Given the description of an element on the screen output the (x, y) to click on. 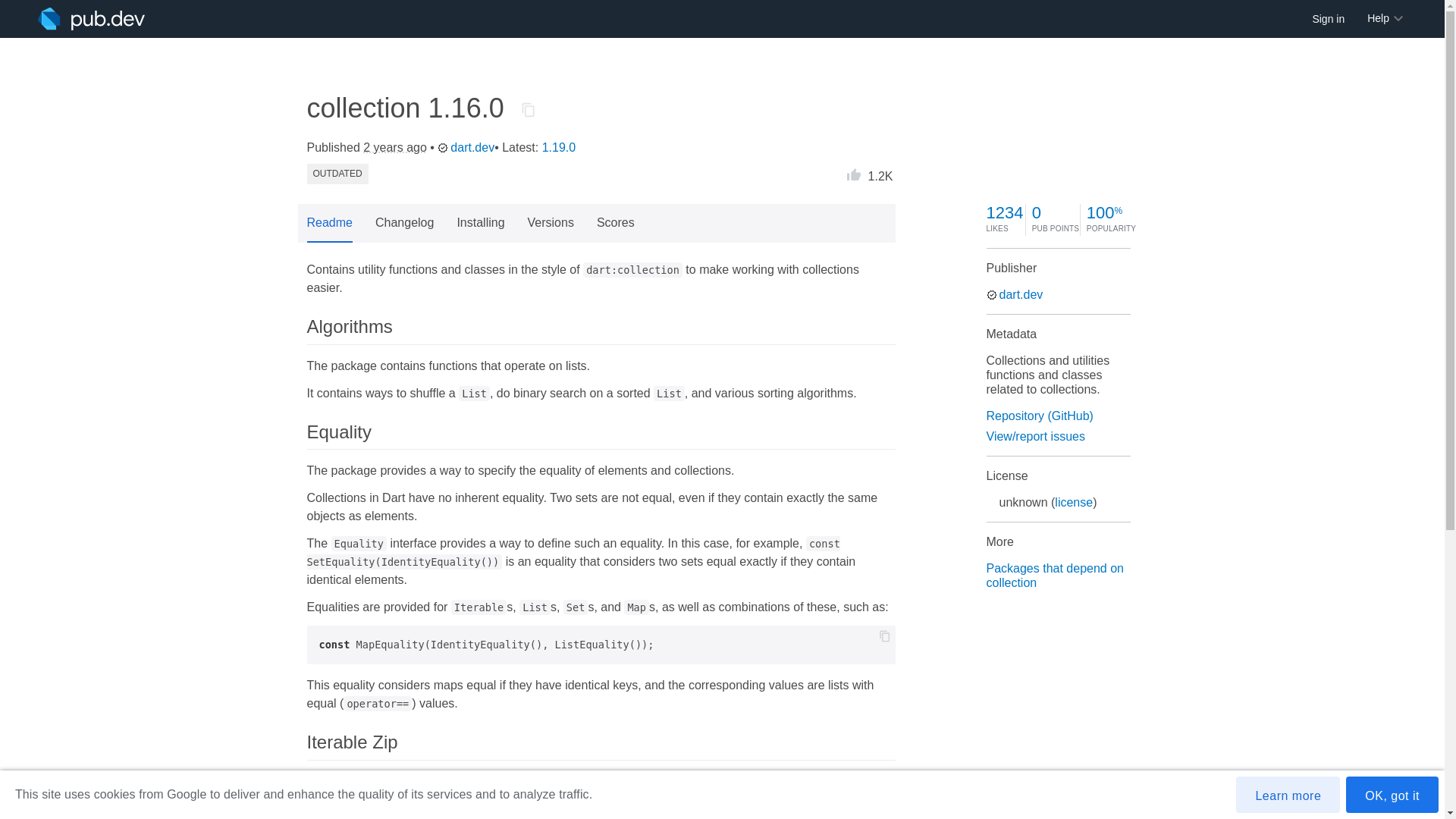
Versions (550, 223)
Published by a pub.dev verified publisher (990, 294)
Mar 8, 2022 (394, 146)
2 years ago (394, 146)
Scores (615, 223)
dart.dev (466, 148)
copy to clipboard (883, 635)
Published by a pub.dev verified publisher (443, 147)
dart.dev (1013, 294)
Learn more (1287, 794)
